Given the description of an element on the screen output the (x, y) to click on. 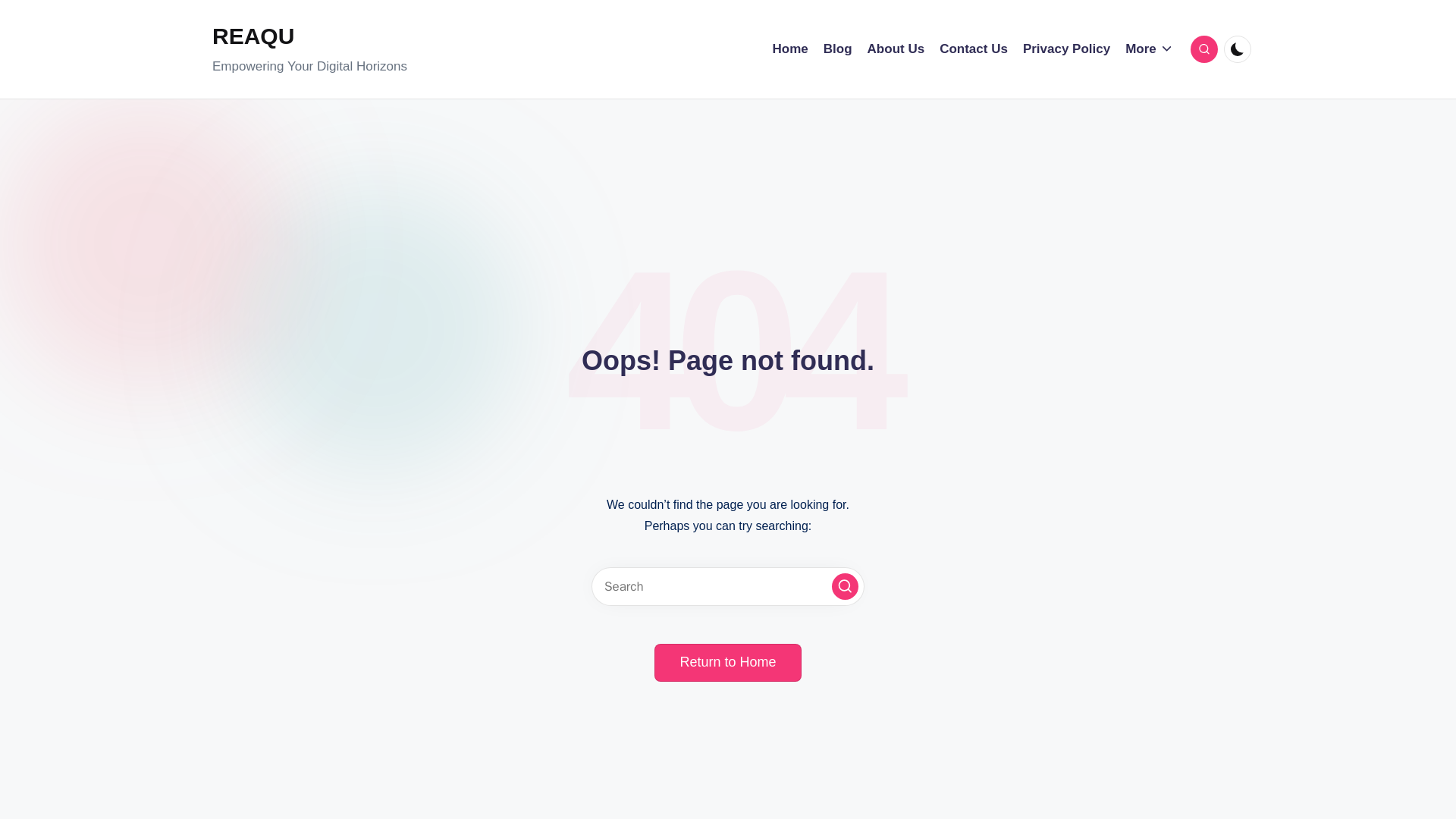
Privacy Policy (1066, 48)
About Us (895, 48)
Contact Us (973, 48)
Return to Home (726, 662)
REAQU (309, 36)
More (1149, 48)
Blog (837, 48)
Home (790, 48)
